Given the description of an element on the screen output the (x, y) to click on. 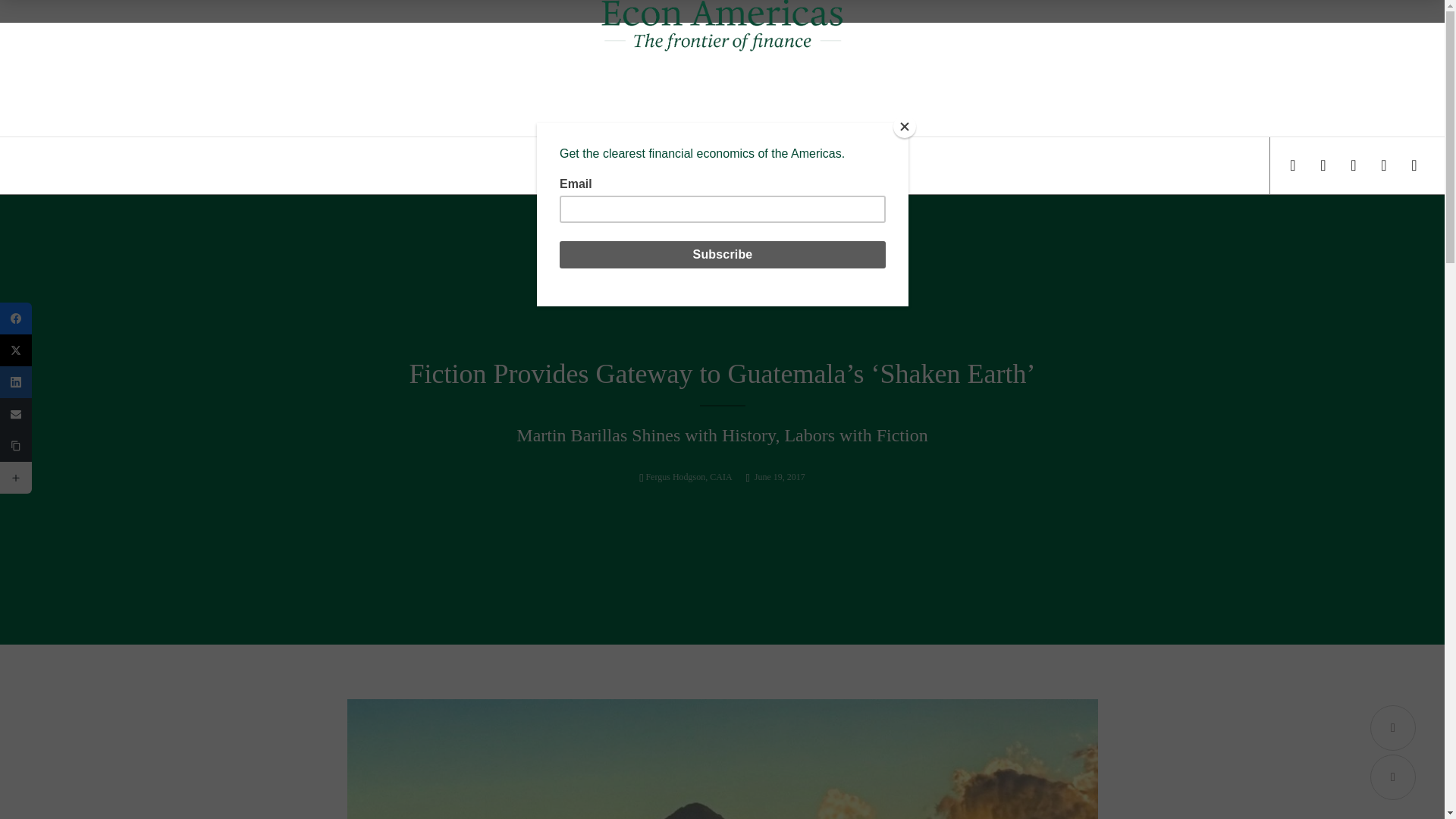
Contact Us (864, 165)
Services (623, 165)
Fergus Hodgson, CAIA (688, 476)
Podcast (801, 165)
Publications (735, 165)
